Given the description of an element on the screen output the (x, y) to click on. 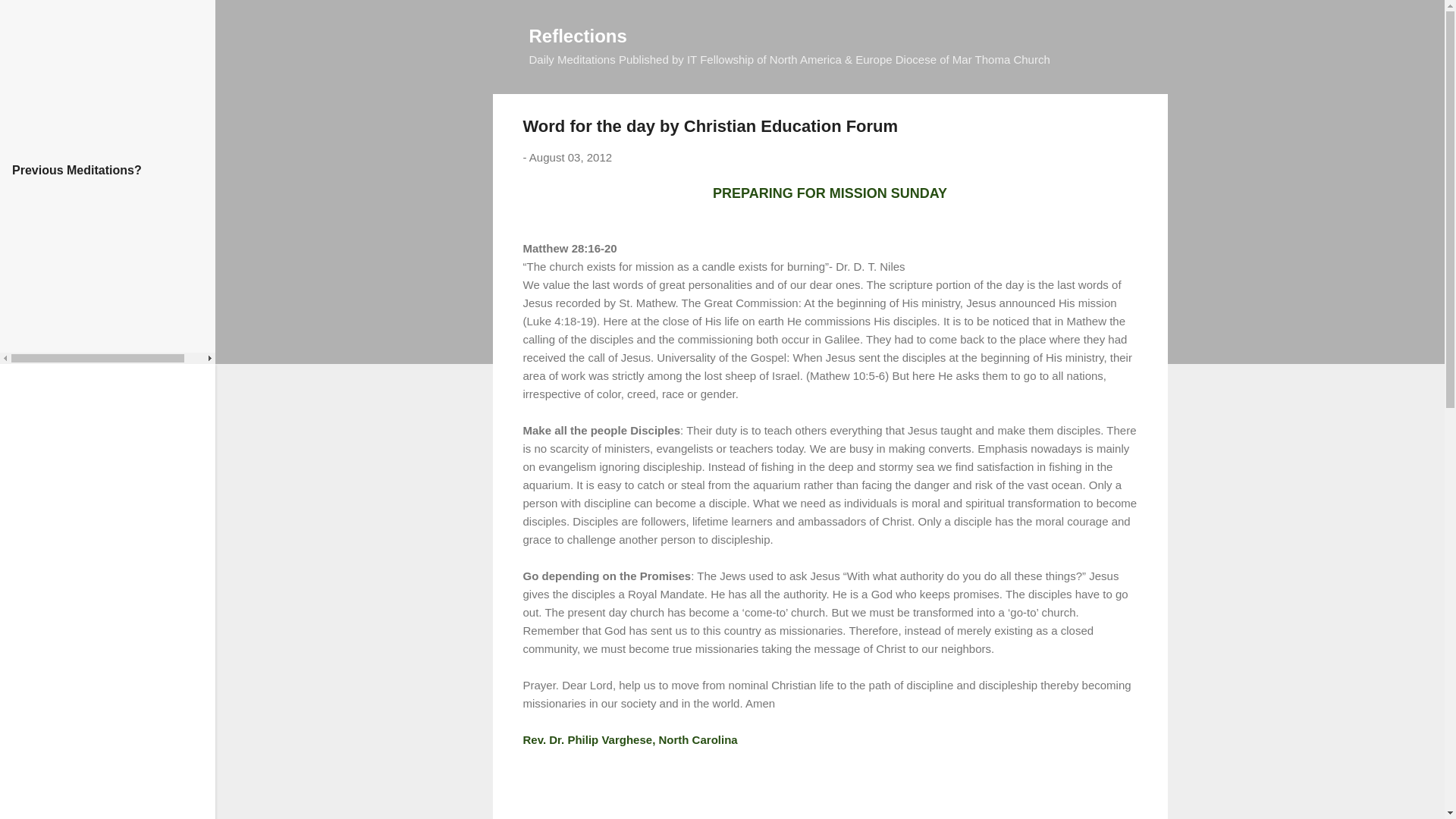
permanent link (570, 156)
Reflections (578, 35)
August 03, 2012 (570, 156)
Search (29, 18)
